Given the description of an element on the screen output the (x, y) to click on. 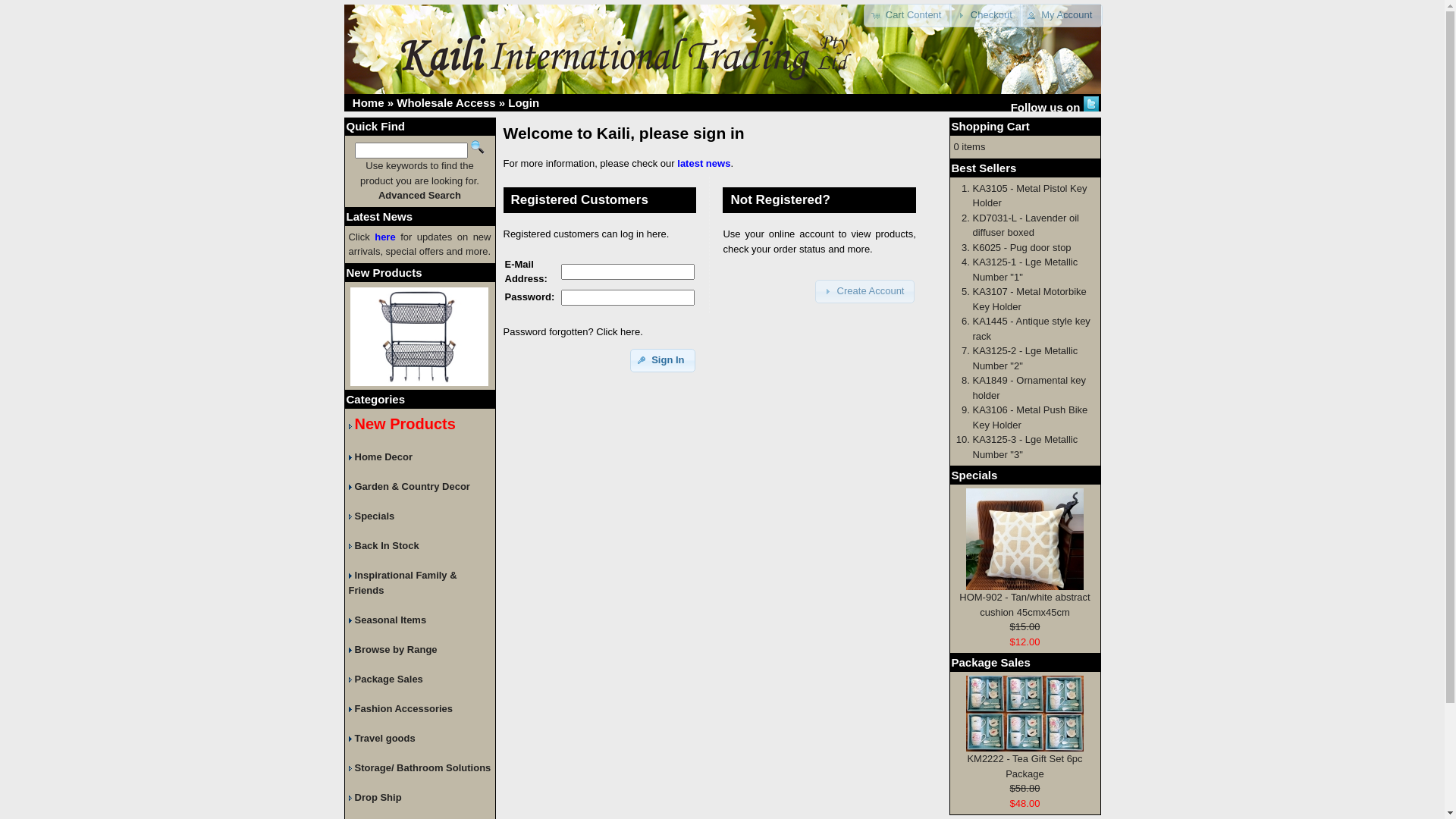
KA3125-1 - Lge Metallic Number "1" Element type: text (1024, 269)
 KM2222 - Tea Gift Set 6pc Package  Element type: hover (1024, 713)
My Account Element type: text (1061, 15)
Wholesale Access Element type: text (445, 102)
 Quick Find  Element type: hover (477, 146)
Home Decor Element type: text (380, 456)
Create Account Element type: text (864, 291)
Package Sales Element type: text (989, 661)
KA3107 - Metal Motorbike Key Holder Element type: text (1028, 298)
KA3106 - Metal Push Bike Key Holder Element type: text (1029, 417)
KD7031-L - Lavender oil diffuser boxed Element type: text (1025, 225)
Garden & Country Decor Element type: text (409, 486)
 HOM-902 - Tan/white abstract cushion 45cmx45cm  Element type: hover (1024, 538)
here Element type: text (384, 235)
Login Element type: text (523, 102)
Storage/ Bathroom Solutions Element type: text (419, 766)
Best Sellers Element type: text (983, 166)
Drop Ship Element type: text (374, 797)
 Twitter  Element type: hover (1090, 103)
KA3105 - Metal Pistol Key Holder Element type: text (1029, 195)
Seasonal Items Element type: text (387, 619)
New Products Element type: text (401, 425)
latest news Element type: text (703, 163)
Specials Element type: text (973, 474)
K6025 - Pug door stop Element type: text (1021, 246)
HOM-902 - Tan/white abstract cushion 45cmx45cm Element type: text (1024, 604)
KM2222 - Tea Gift Set 6pc Package Element type: text (1024, 766)
New Products Element type: text (383, 271)
Browse by Range Element type: text (392, 648)
Inspirational Family & Friends Element type: text (402, 582)
Sign In Element type: text (662, 360)
Package Sales Element type: text (385, 678)
Cart Content Element type: text (907, 15)
Advanced Search Element type: text (419, 194)
KA1849 - Ornamental key holder Element type: text (1028, 387)
KA3125-3 - Lge Metallic Number "3" Element type: text (1024, 446)
Password forgotten? Click here. Element type: text (573, 331)
Fashion Accessories Element type: text (400, 707)
Shopping Cart Element type: text (989, 125)
Home Element type: text (368, 102)
Specials Element type: text (371, 515)
Back In Stock Element type: text (383, 545)
Latest News Element type: text (378, 215)
Travel goods Element type: text (381, 737)
Checkout Element type: text (985, 15)
KA3125-2 - Lge Metallic Number "2" Element type: text (1024, 358)
KA1445 - Antique style key rack Element type: text (1030, 328)
